Given the description of an element on the screen output the (x, y) to click on. 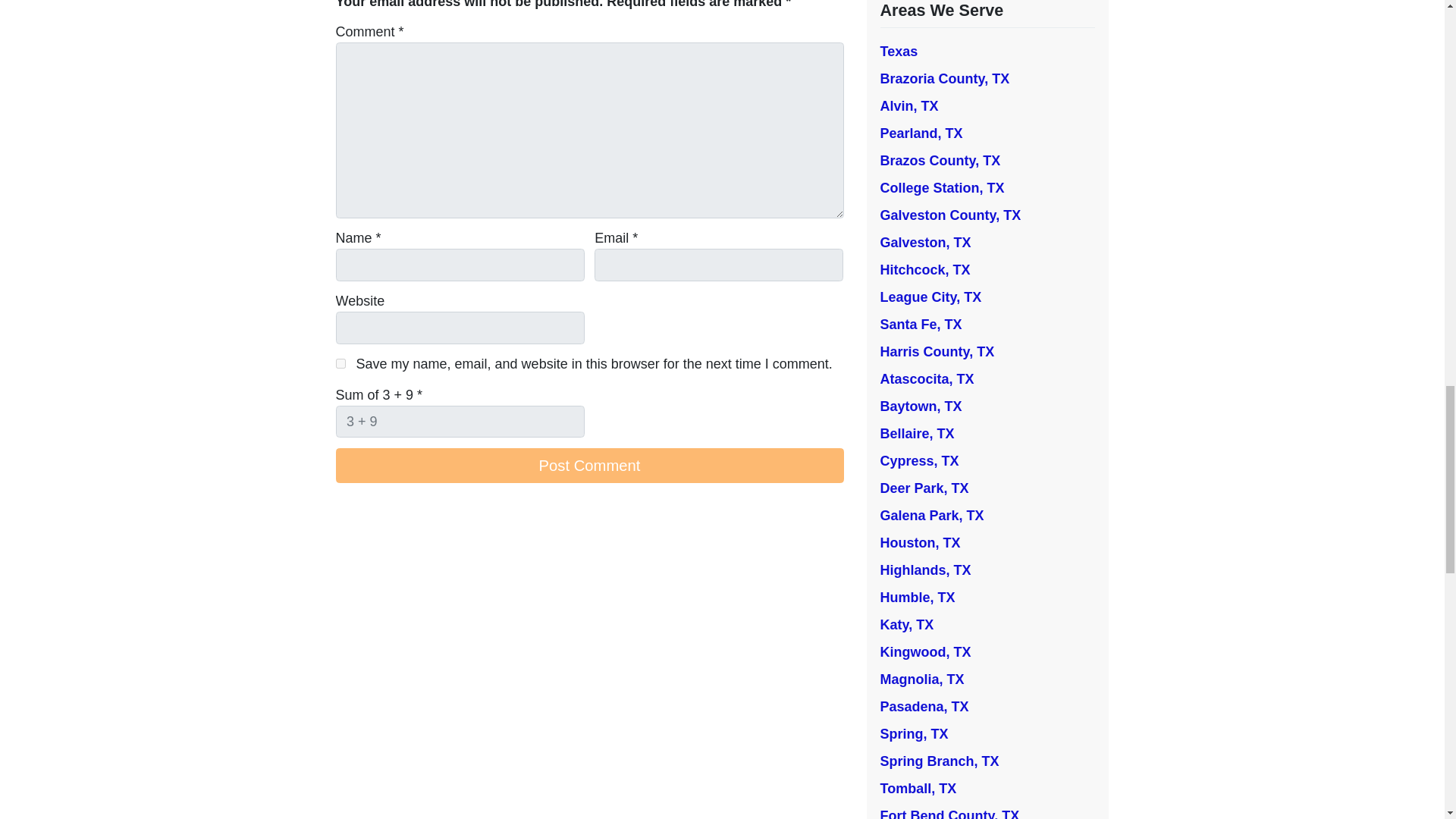
Brazoria County, TX (944, 78)
Galveston, TX (925, 242)
Santa Fe, TX (919, 324)
Pearland, TX (920, 133)
Galveston County, TX (949, 215)
Post Comment (588, 465)
Brazos County, TX (939, 160)
Post Comment (588, 465)
College Station, TX (941, 187)
Hitchcock, TX (924, 269)
Texas (898, 51)
Alvin, TX (908, 105)
Harris County, TX (936, 351)
yes (339, 363)
League City, TX (930, 296)
